Given the description of an element on the screen output the (x, y) to click on. 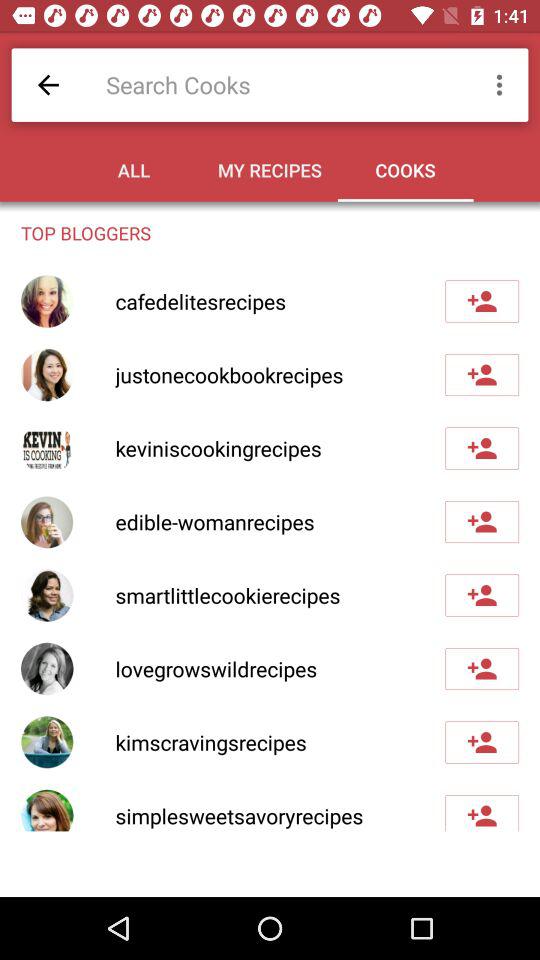
to add blogger (482, 669)
